Given the description of an element on the screen output the (x, y) to click on. 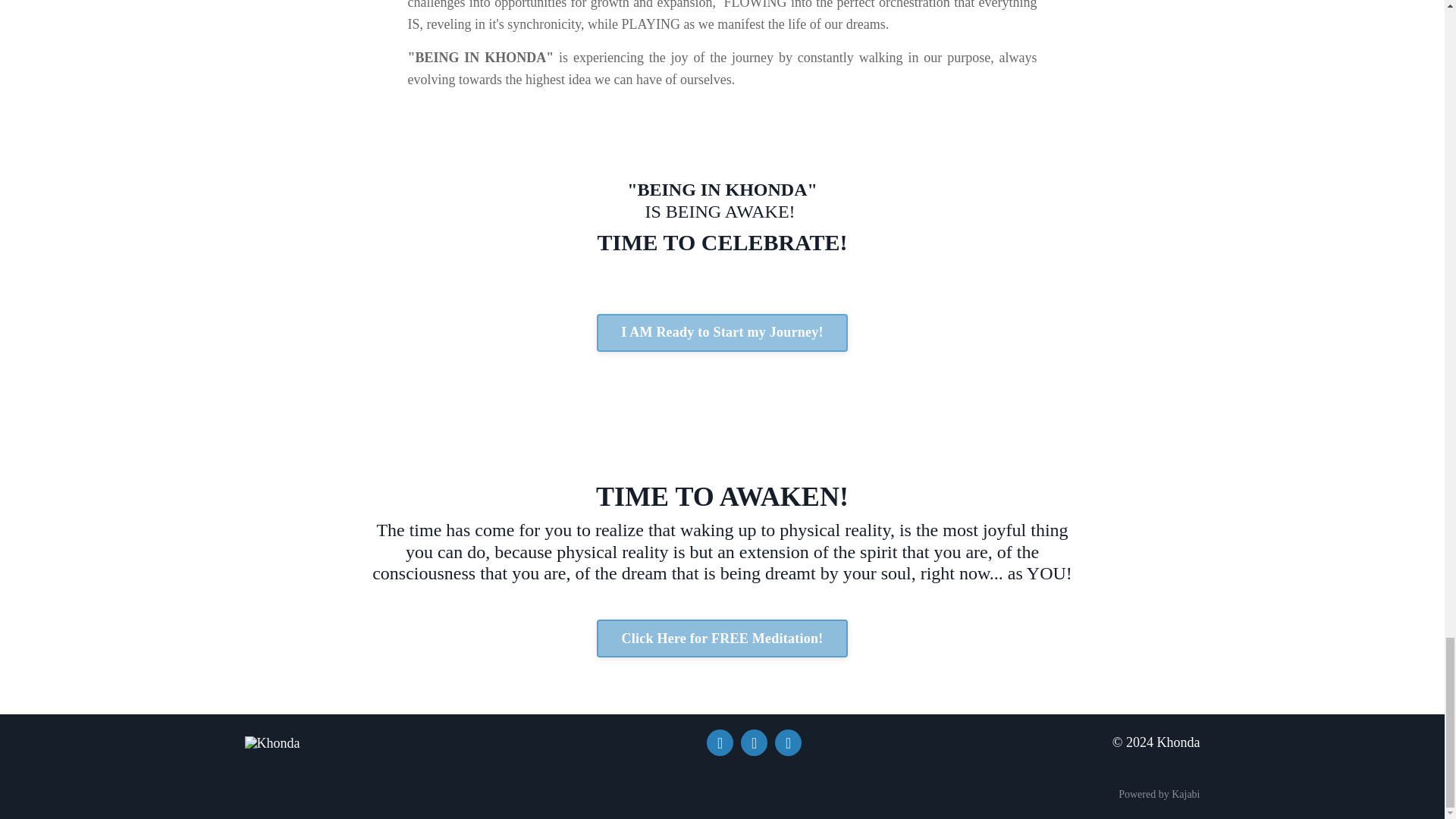
Click Here for FREE Meditation! (721, 638)
Powered by Kajabi (1158, 794)
I AM Ready to Start my Journey! (721, 332)
